Given the description of an element on the screen output the (x, y) to click on. 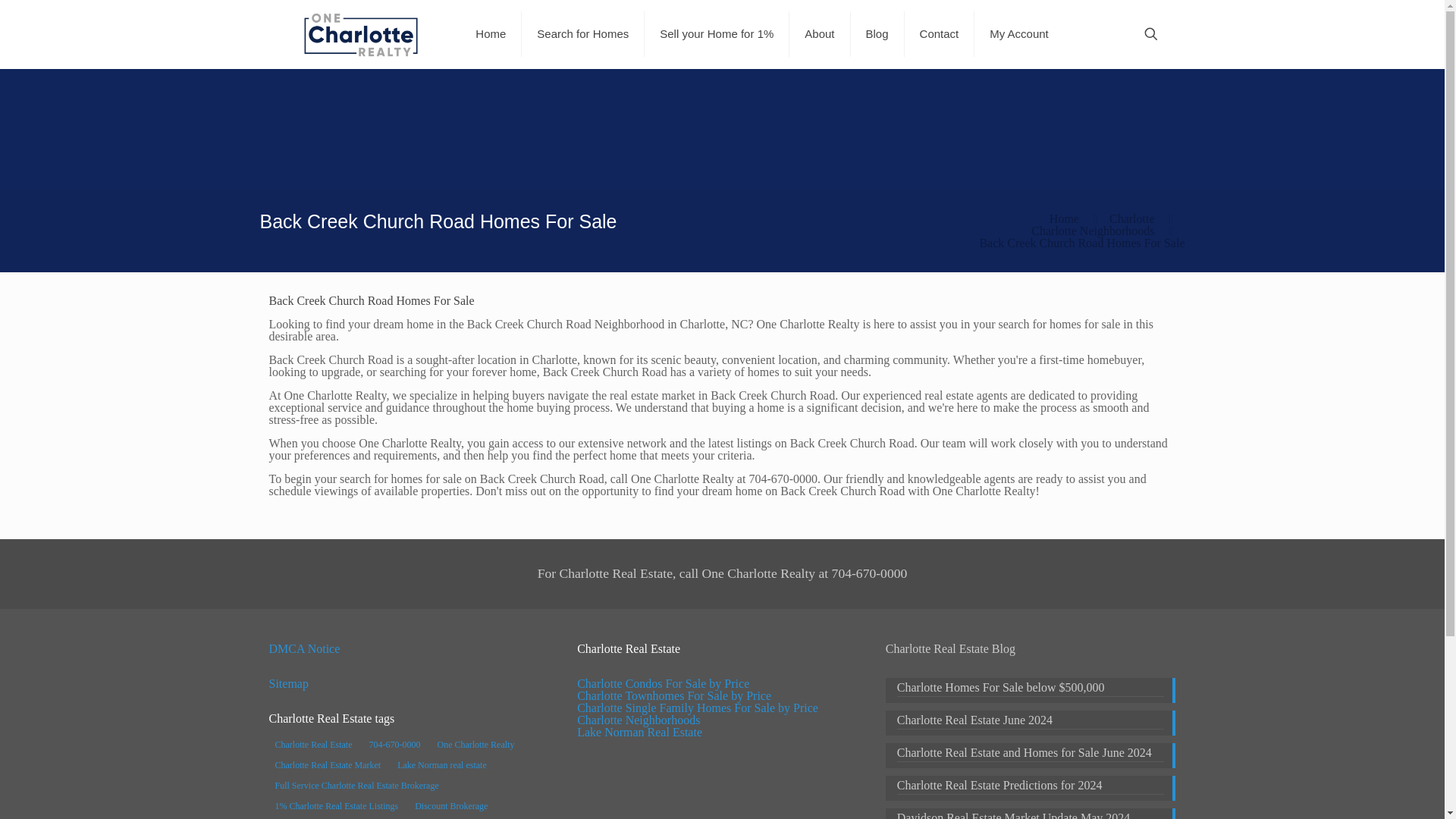
Charlotte Real Estate (312, 744)
Sitemap (287, 683)
Charlotte (1131, 218)
Home (1063, 218)
Lake Norman real estate (442, 764)
DMCA Notice (303, 648)
Full Service Charlotte Real Estate Brokerage (355, 785)
Home (490, 33)
Contact (939, 33)
Search for Homes (583, 33)
One Charlotte Realty (474, 744)
One Charlotte Realty (360, 33)
Charlotte Neighborhoods (1092, 230)
My Account (1019, 33)
704-670-0000 (394, 744)
